Given the description of an element on the screen output the (x, y) to click on. 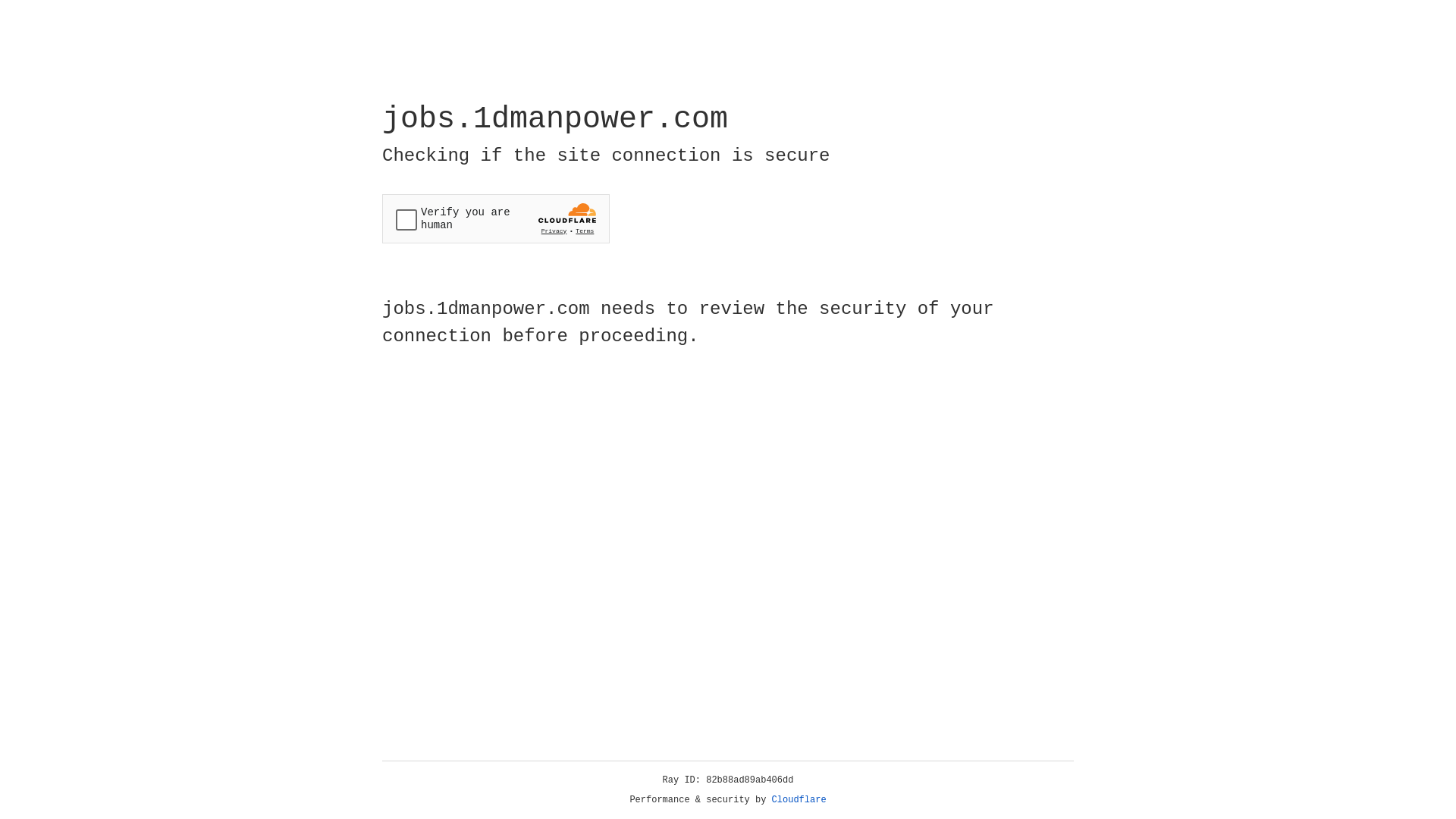
Cloudflare Element type: text (798, 799)
Widget containing a Cloudflare security challenge Element type: hover (495, 218)
